Given the description of an element on the screen output the (x, y) to click on. 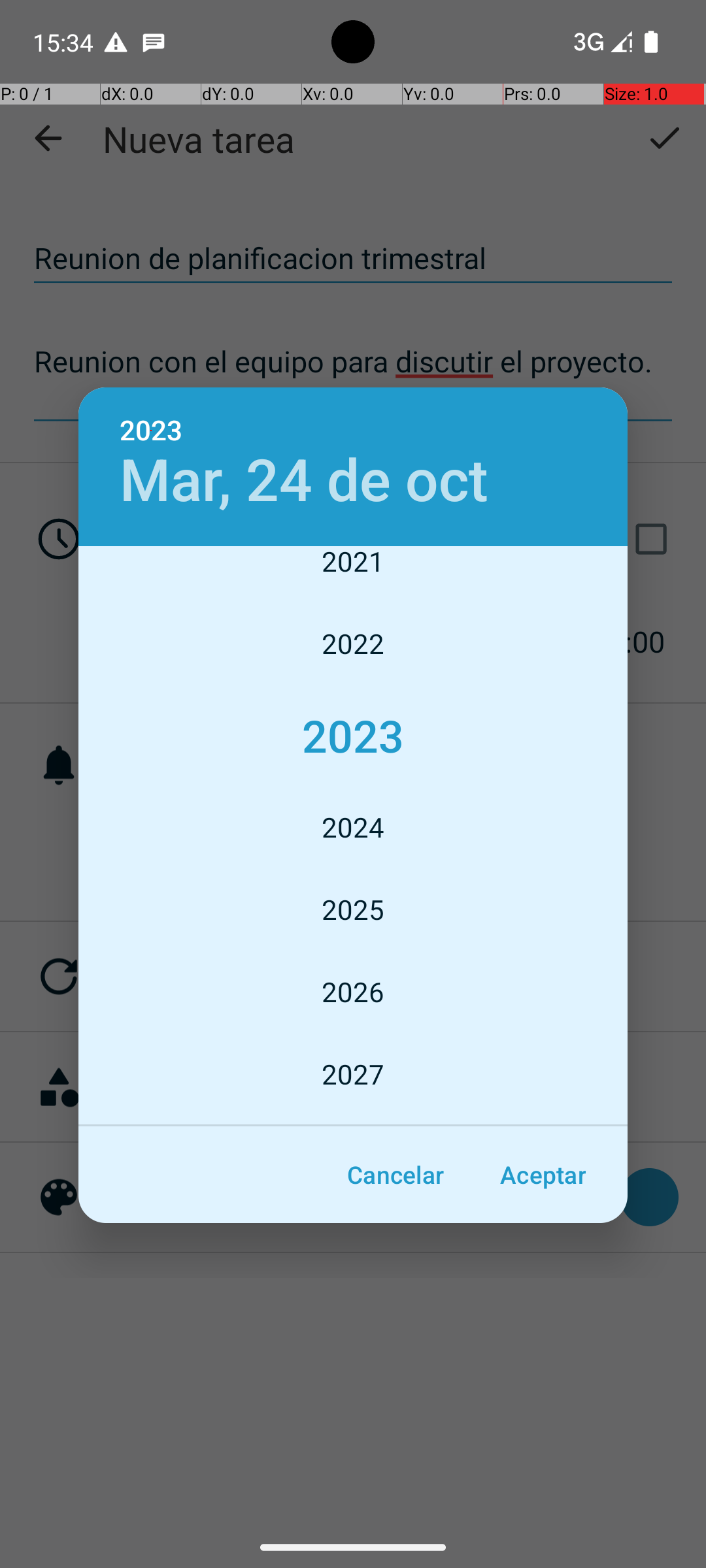
Mar, 24 de oct Element type: android.widget.TextView (303, 480)
Cancelar Element type: android.widget.Button (394, 1174)
Aceptar Element type: android.widget.Button (542, 1174)
2021 Element type: android.widget.TextView (352, 574)
2022 Element type: android.widget.TextView (352, 643)
2025 Element type: android.widget.TextView (352, 909)
2026 Element type: android.widget.TextView (352, 991)
2027 Element type: android.widget.TextView (352, 1073)
2028 Element type: android.widget.TextView (352, 1120)
